Given the description of an element on the screen output the (x, y) to click on. 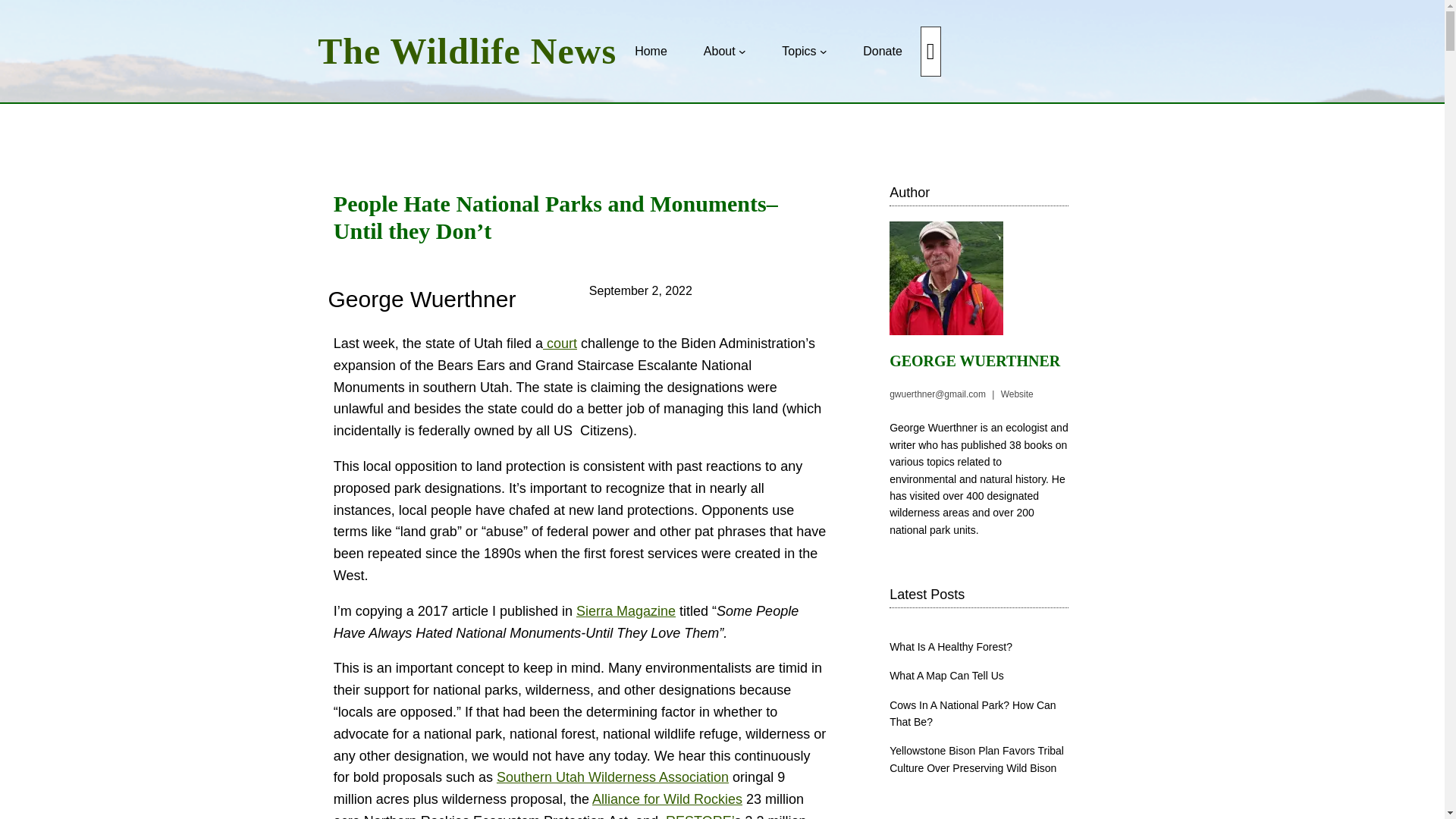
The Wildlife News (466, 51)
Home (650, 51)
About (719, 51)
Topics (798, 51)
